Given the description of an element on the screen output the (x, y) to click on. 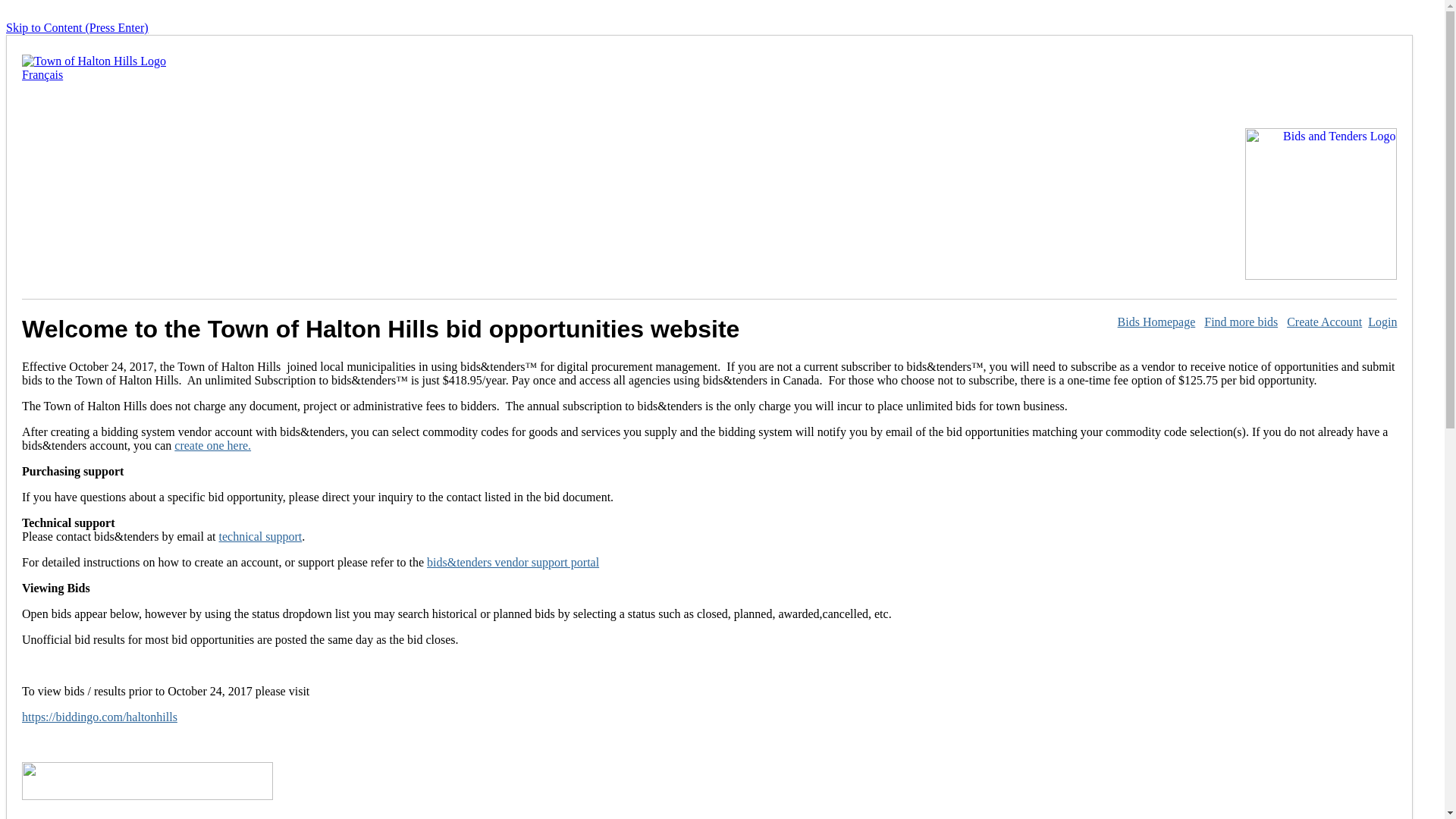
Open Town of Halton Hills site in a new window Element type: hover (93, 60)
bids&tenders vendor support portal Element type: text (512, 561)
Login Element type: text (1382, 321)
create one here. Element type: text (212, 445)
Find more bids Element type: text (1240, 321)
Skip to Content (Press Enter) Element type: text (77, 27)
technical support Element type: text (259, 536)
https://biddingo.com/haltonhills Element type: text (99, 716)
Create Account Element type: text (1323, 321)
Bids Homepage Element type: text (1156, 321)
Open Bids and Tenders site in a new window Element type: hover (1320, 275)
